Given the description of an element on the screen output the (x, y) to click on. 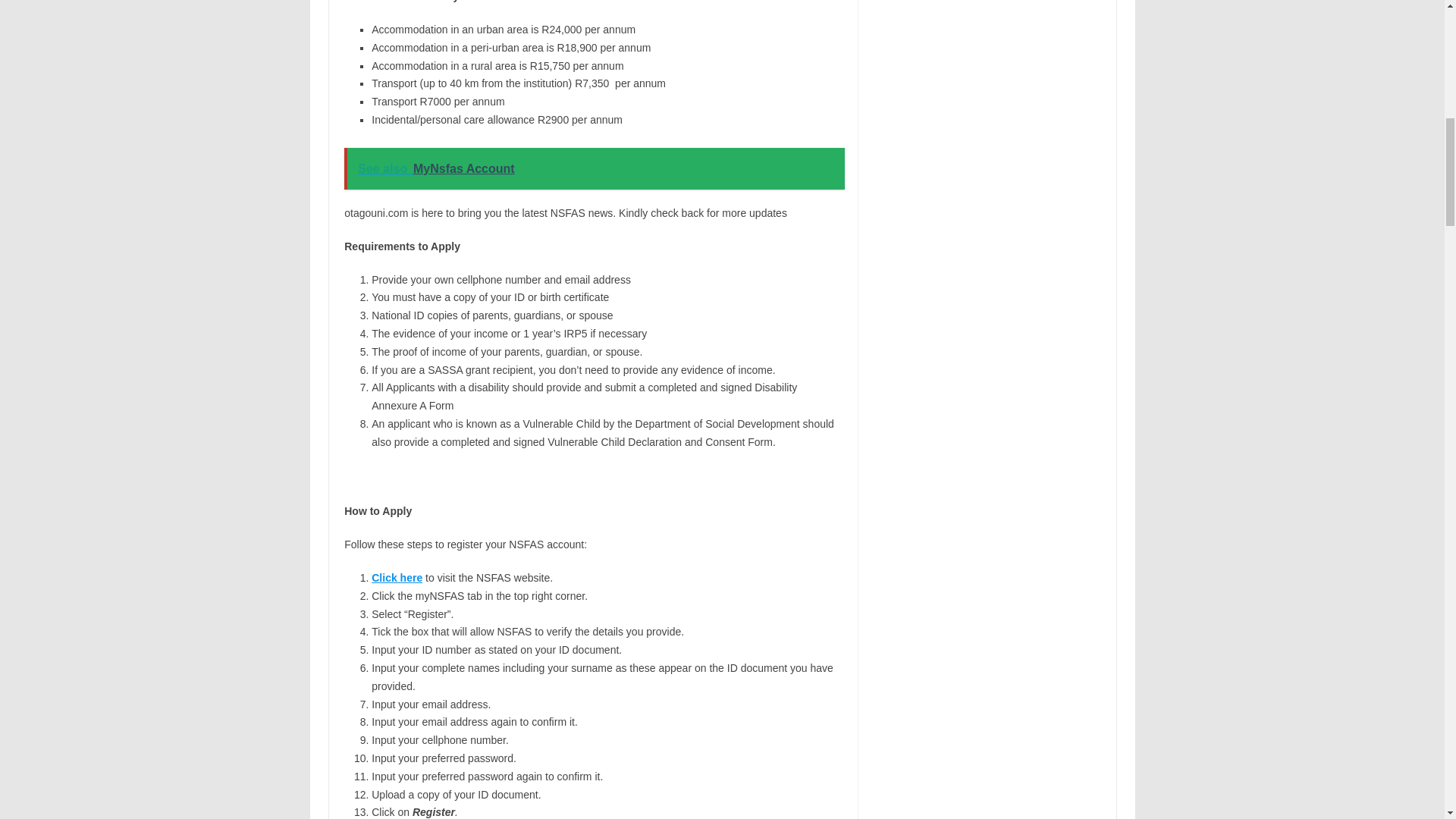
See also  MyNsfas Account (593, 168)
Click here (396, 577)
